Given the description of an element on the screen output the (x, y) to click on. 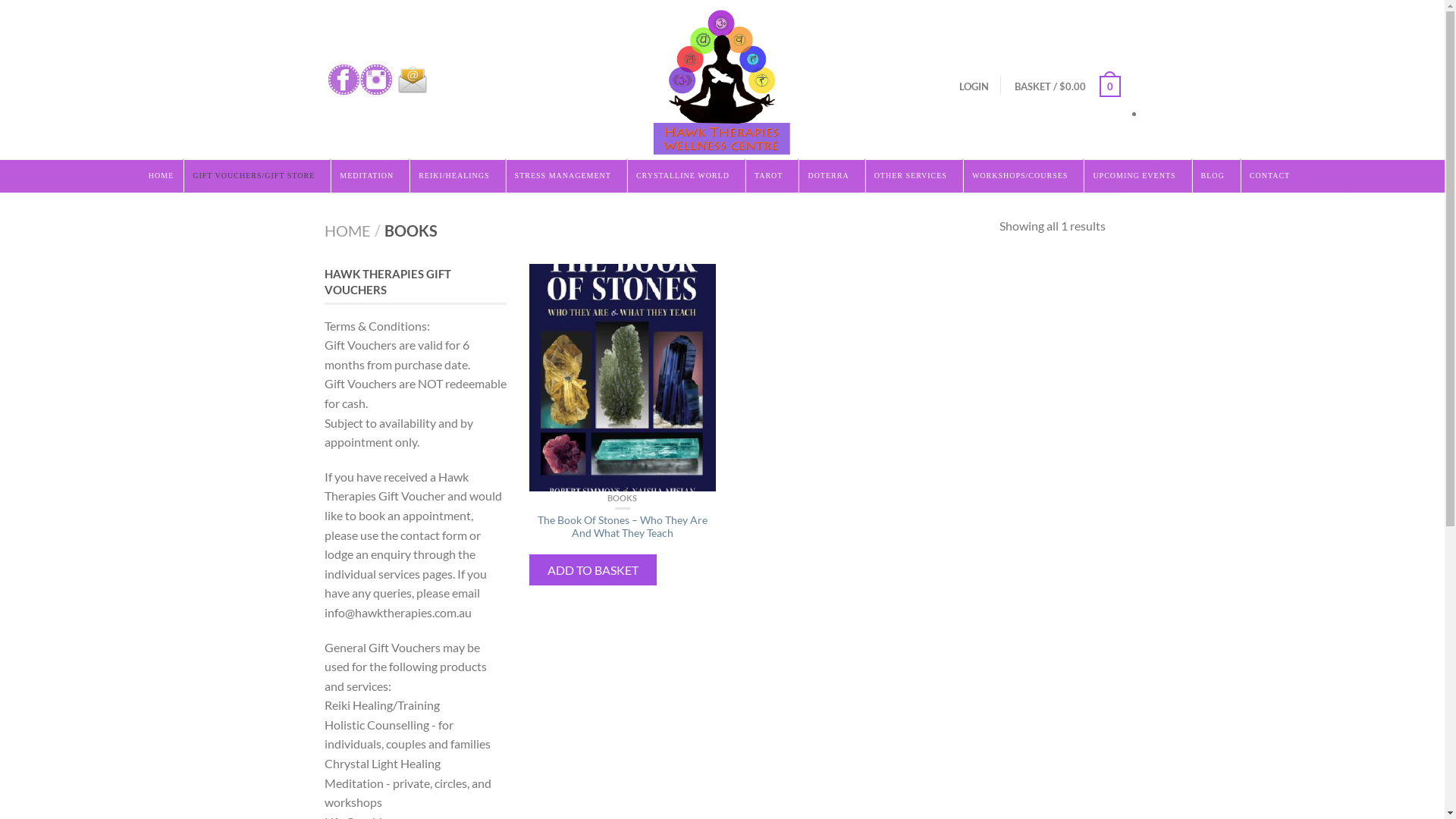
TAROT Element type: text (771, 175)
DOTERRA Element type: text (830, 175)
REIKI/HEALINGS Element type: text (456, 175)
BLOG Element type: text (1215, 175)
OTHER SERVICES Element type: text (913, 175)
MEDITATION Element type: text (368, 175)
Hawk Therapies -  Element type: hover (722, 79)
CRYSTALLINE WORLD Element type: text (685, 175)
CONTACT Element type: text (1272, 175)
BASKET / $0.00 0 Element type: text (1067, 86)
STRESS MANAGEMENT Element type: text (565, 175)
HOME Element type: text (347, 230)
UPCOMING EVENTS Element type: text (1136, 175)
ADD TO BASKET Element type: text (592, 569)
BOOKS Element type: text (622, 497)
WORKSHOPS/COURSES Element type: text (1022, 175)
GIFT VOUCHERS/GIFT STORE Element type: text (255, 175)
HOME Element type: text (160, 175)
LOGIN Element type: text (973, 86)
